Given the description of an element on the screen output the (x, y) to click on. 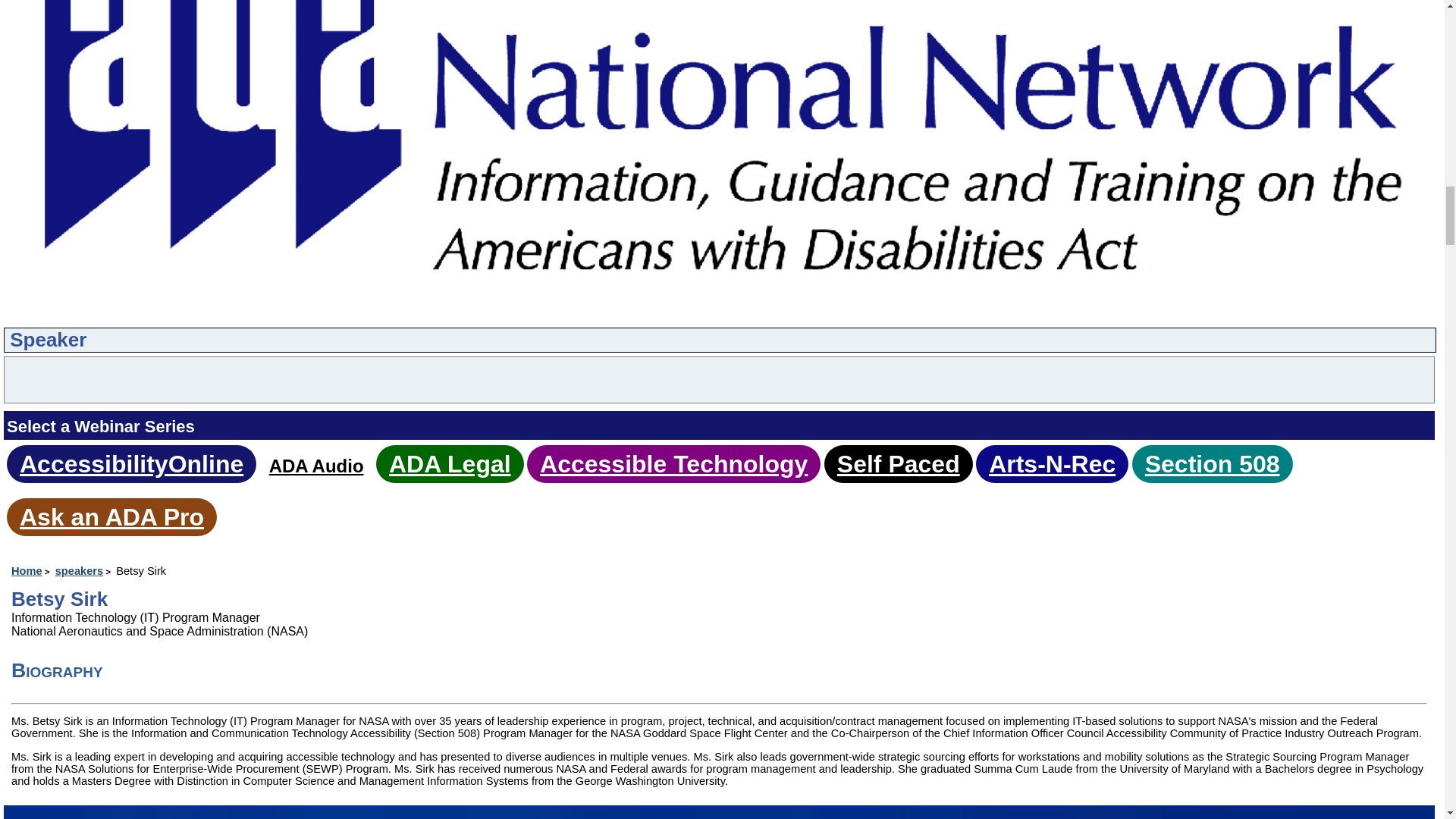
Ask an ADA Pro (111, 516)
Self Paced (898, 463)
Accessible Technology (674, 463)
ADA Legal (449, 463)
speakers (84, 571)
AccessibilityOnline (131, 463)
ADA Audio (316, 465)
Home (31, 571)
Section 508 (1211, 463)
